Given the description of an element on the screen output the (x, y) to click on. 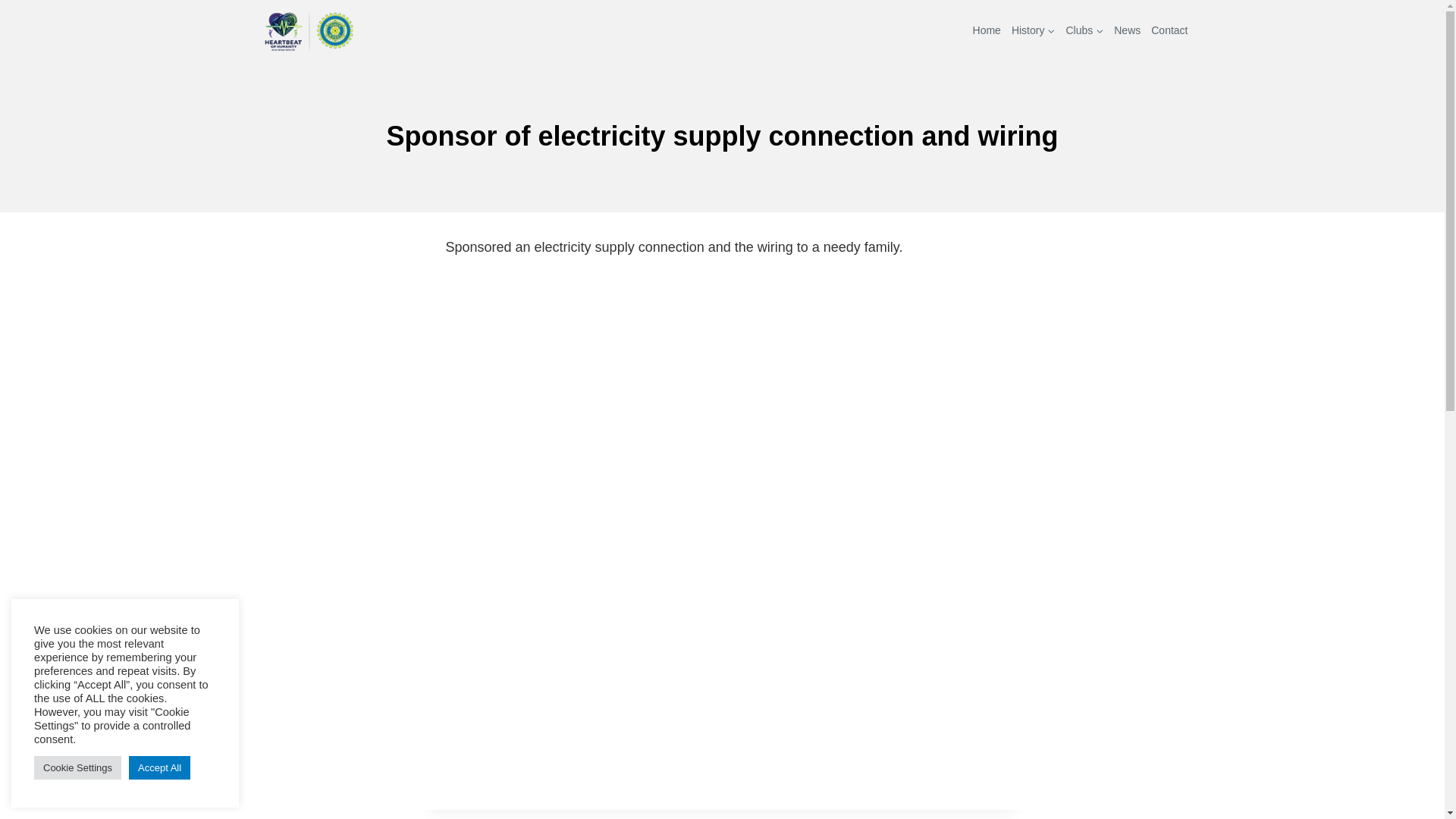
Home (987, 29)
News (1126, 29)
Contact (1168, 29)
Clubs (1083, 29)
History (1033, 29)
